Given the description of an element on the screen output the (x, y) to click on. 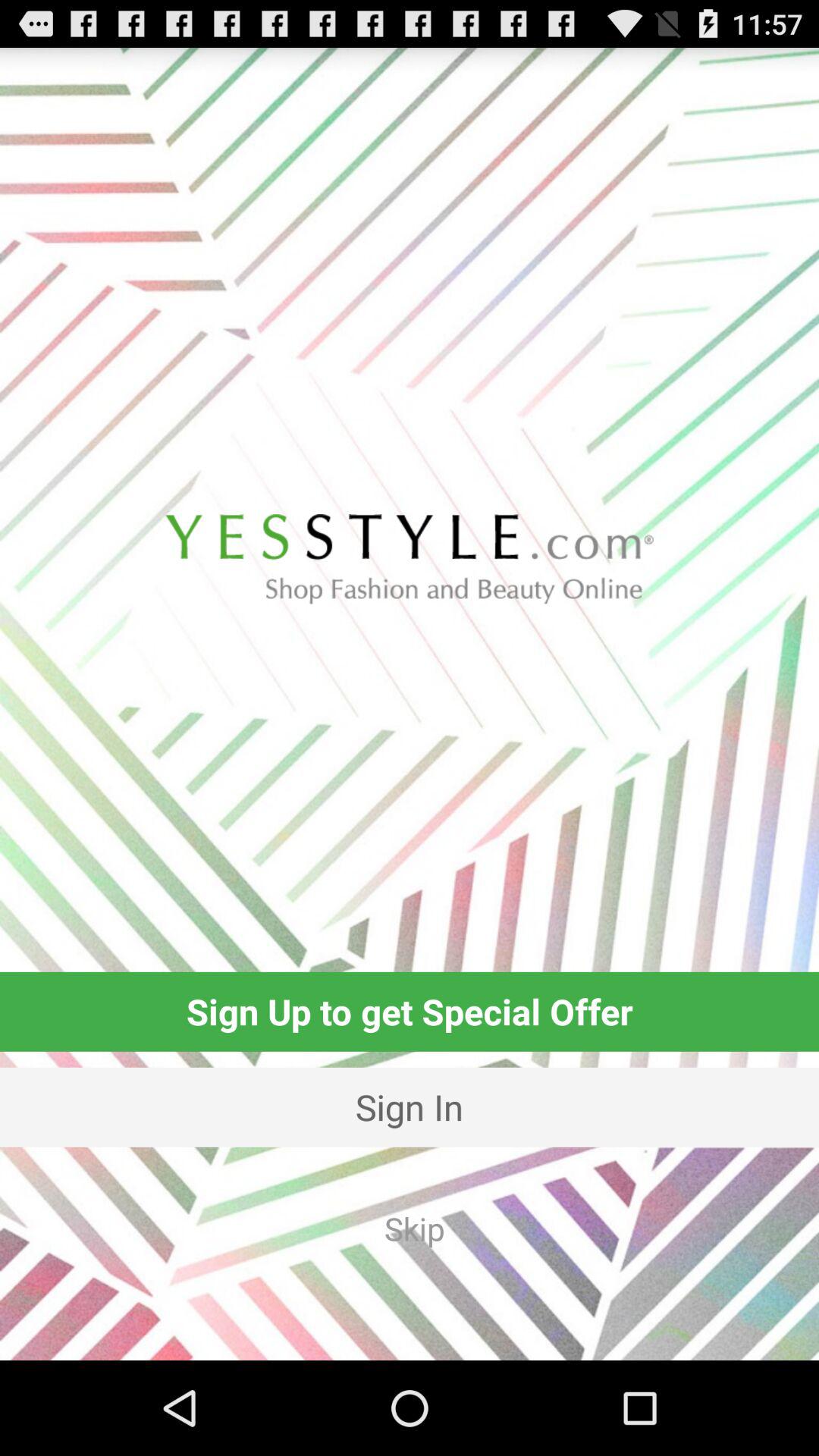
click the sign up to icon (409, 1011)
